Given the description of an element on the screen output the (x, y) to click on. 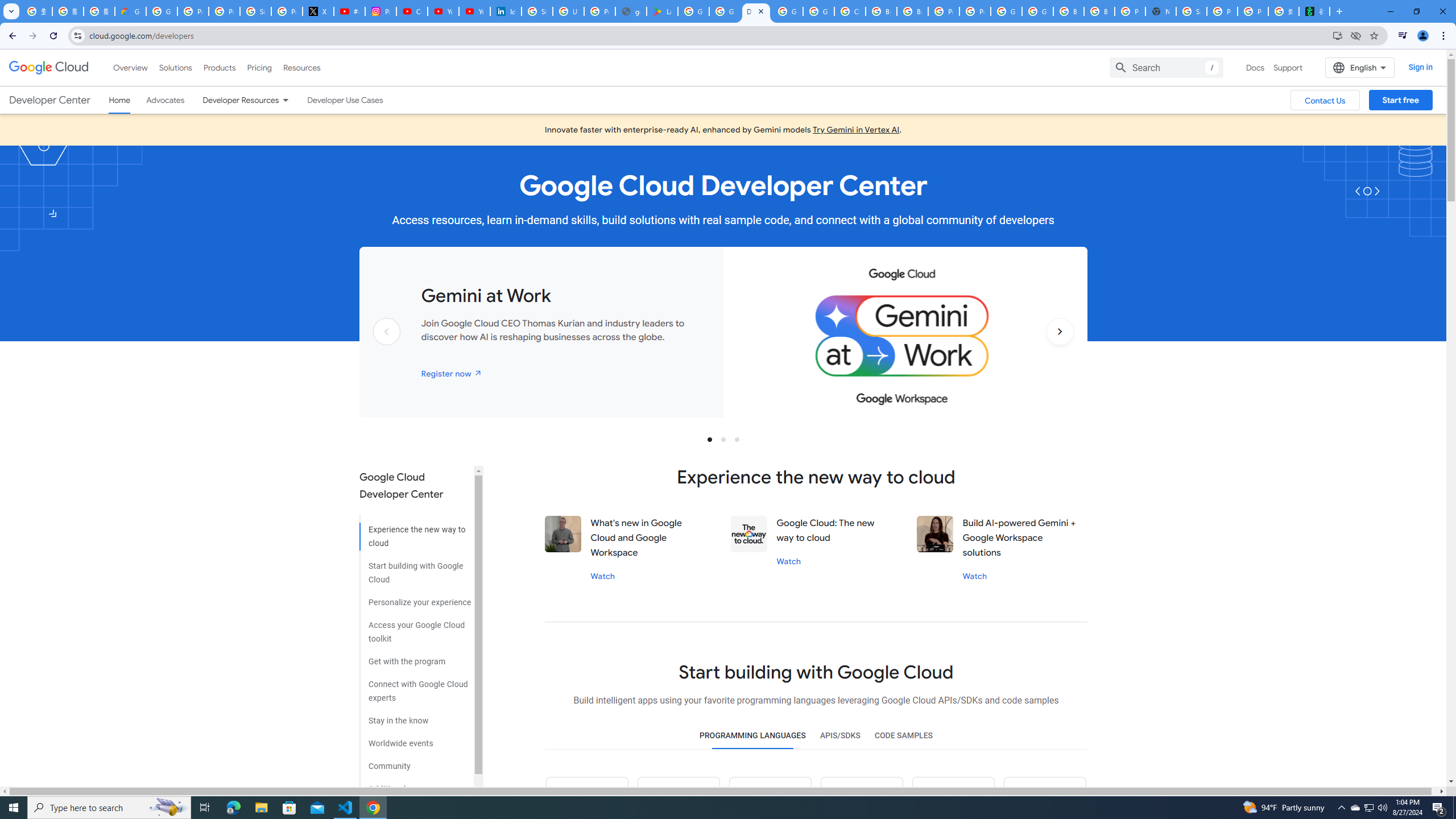
Get with the program (415, 657)
Register now (451, 372)
Dot net icon (952, 798)
Watch (974, 575)
Google Cloud Platform (1005, 11)
X (318, 11)
